Given the description of an element on the screen output the (x, y) to click on. 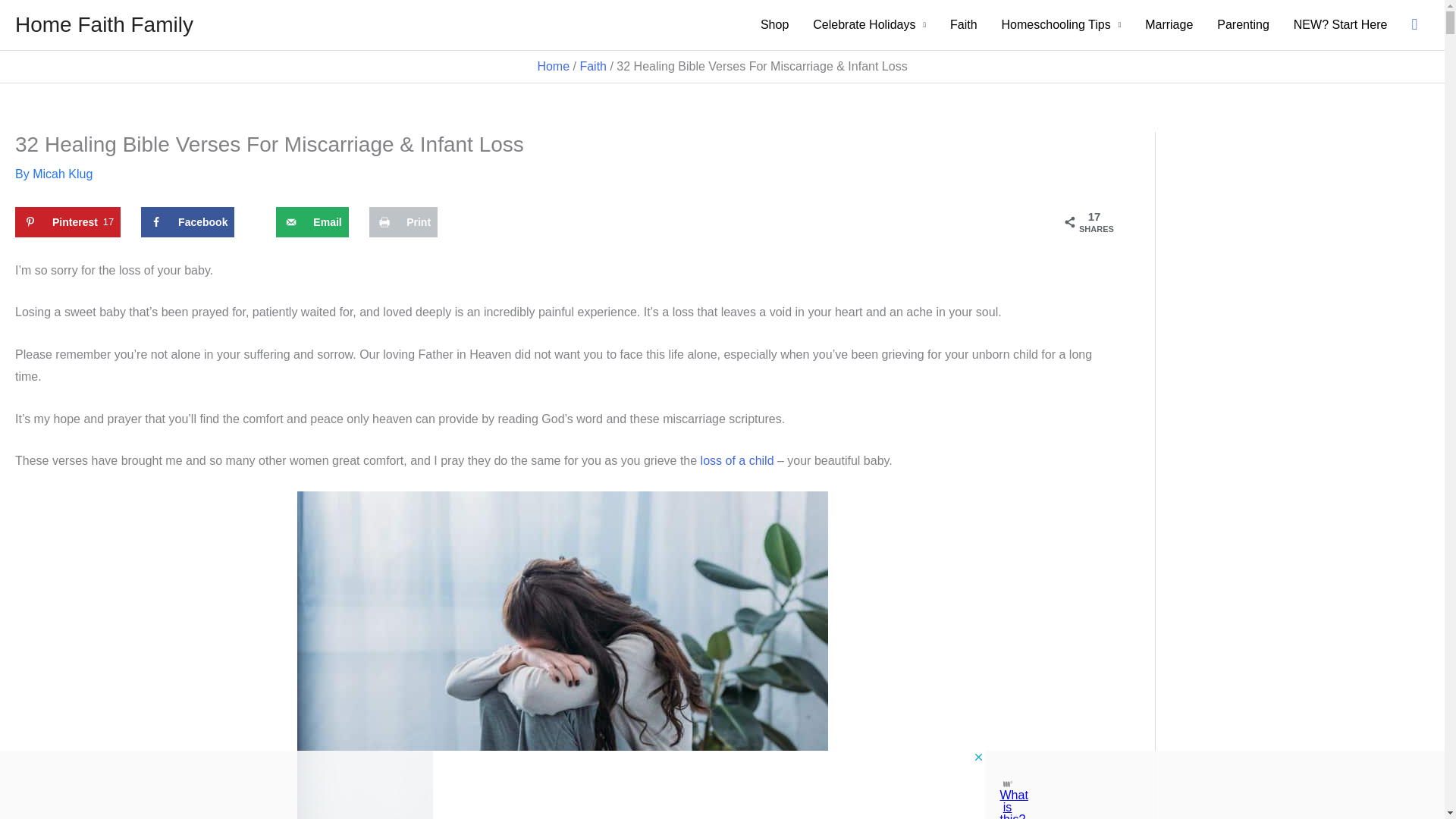
Faith (963, 24)
Shop (774, 24)
Faith (593, 65)
Save to Pinterest (67, 222)
Facebook (187, 222)
Send over email (311, 222)
Home Faith Family (103, 24)
Print (403, 222)
loss of a child (737, 460)
Print this webpage (403, 222)
View all posts by Micah Klug (62, 173)
NEW? Start Here (1340, 24)
Home (553, 65)
Celebrate Holidays (868, 24)
Homeschooling Tips (1062, 24)
